Given the description of an element on the screen output the (x, y) to click on. 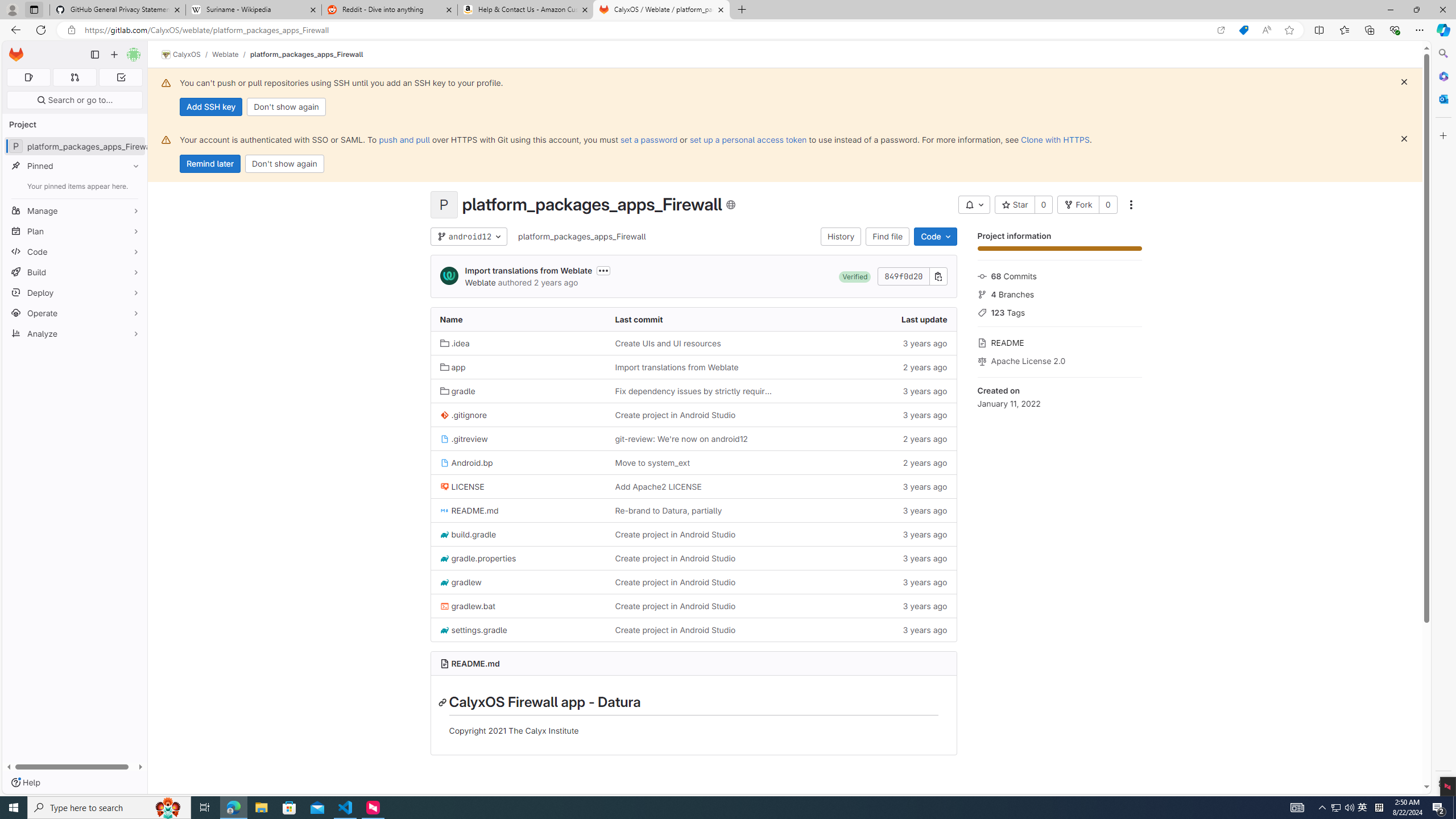
Add Apache2 LICENSE (693, 486)
Deploy (74, 292)
Re-brand to Datura, partially (693, 509)
To-Do list 0 (120, 76)
.gitignore (462, 414)
Apache License 2.0 (1058, 359)
68 Commits (1058, 274)
Android.bp (517, 462)
Merge requests 0 (74, 76)
History (840, 236)
